Given the description of an element on the screen output the (x, y) to click on. 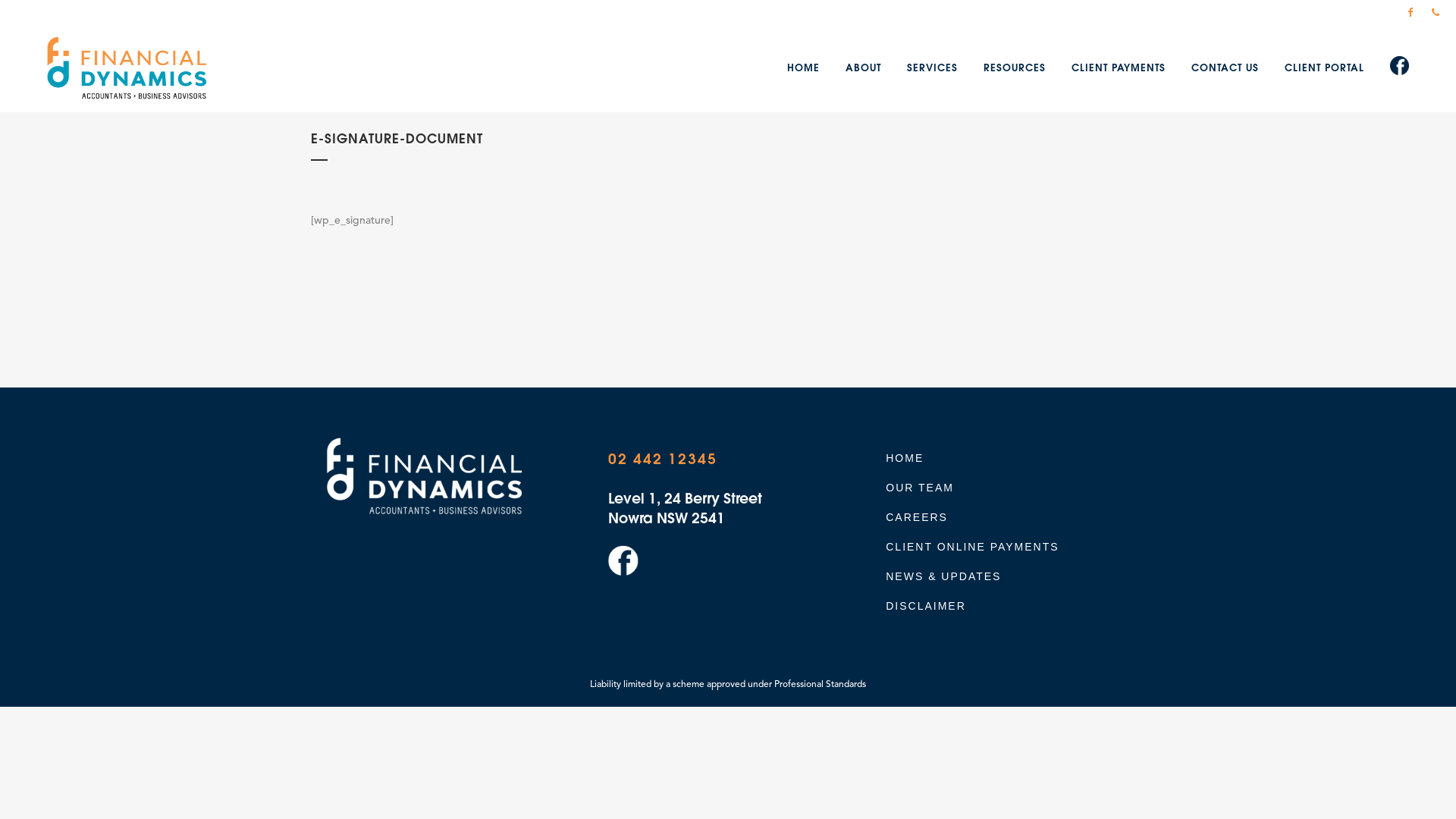
02 442 12345 Element type: text (662, 459)
CLIENT ONLINE PAYMENTS Element type: text (1015, 546)
RESOURCES Element type: text (1014, 68)
SERVICES Element type: text (932, 68)
CLIENT PAYMENTS Element type: text (1118, 68)
ABOUT Element type: text (863, 68)
DISCLAIMER Element type: text (1015, 605)
HOME Element type: text (1015, 457)
OUR TEAM Element type: text (1015, 487)
HOME Element type: text (803, 68)
CONTACT US Element type: text (1224, 68)
CLIENT PORTAL Element type: text (1324, 68)
CAREERS Element type: text (1015, 516)
NEWS & UPDATES Element type: text (1015, 575)
